Given the description of an element on the screen output the (x, y) to click on. 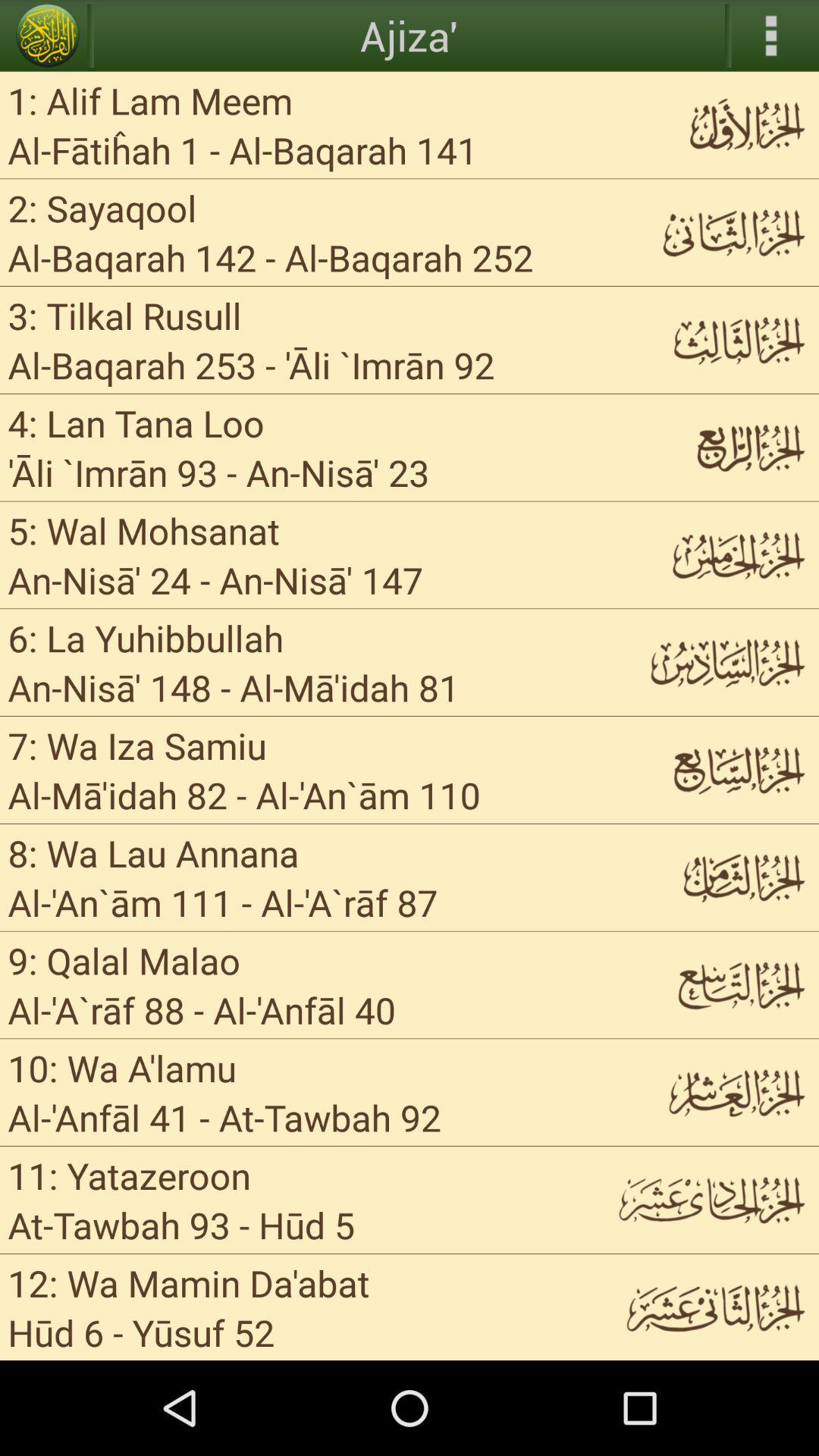
open item above the al baqarah 142 app (101, 207)
